Given the description of an element on the screen output the (x, y) to click on. 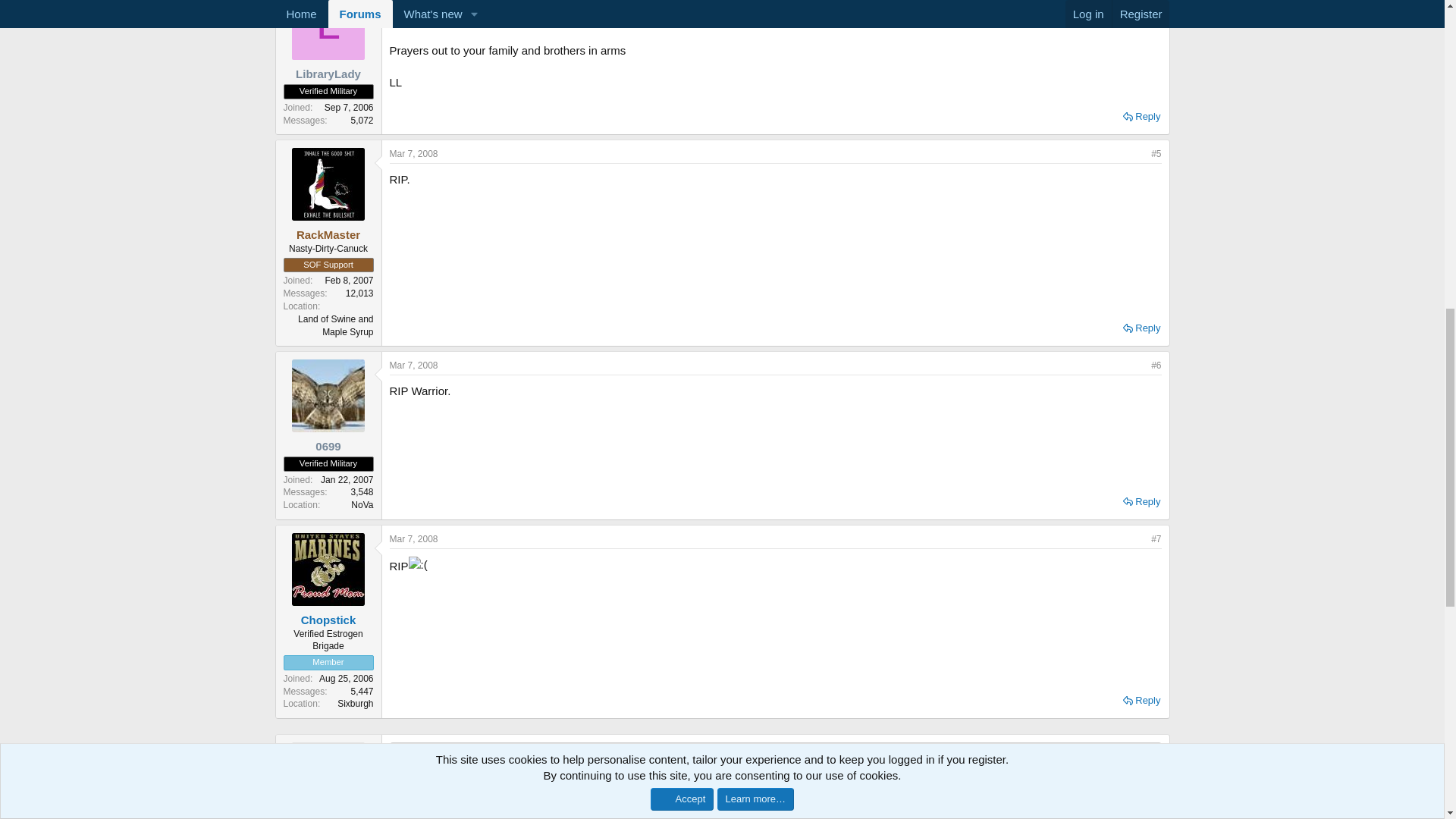
Mar 7, 2008 at 11:34 PM (414, 153)
Mar 7, 2008 at 11:45 PM (414, 538)
Mar 7, 2008 at 11:36 PM (414, 365)
Reply, quoting this message (1141, 328)
Reply, quoting this message (1141, 700)
Reply, quoting this message (1141, 501)
Reply, quoting this message (1141, 116)
